Given the description of an element on the screen output the (x, y) to click on. 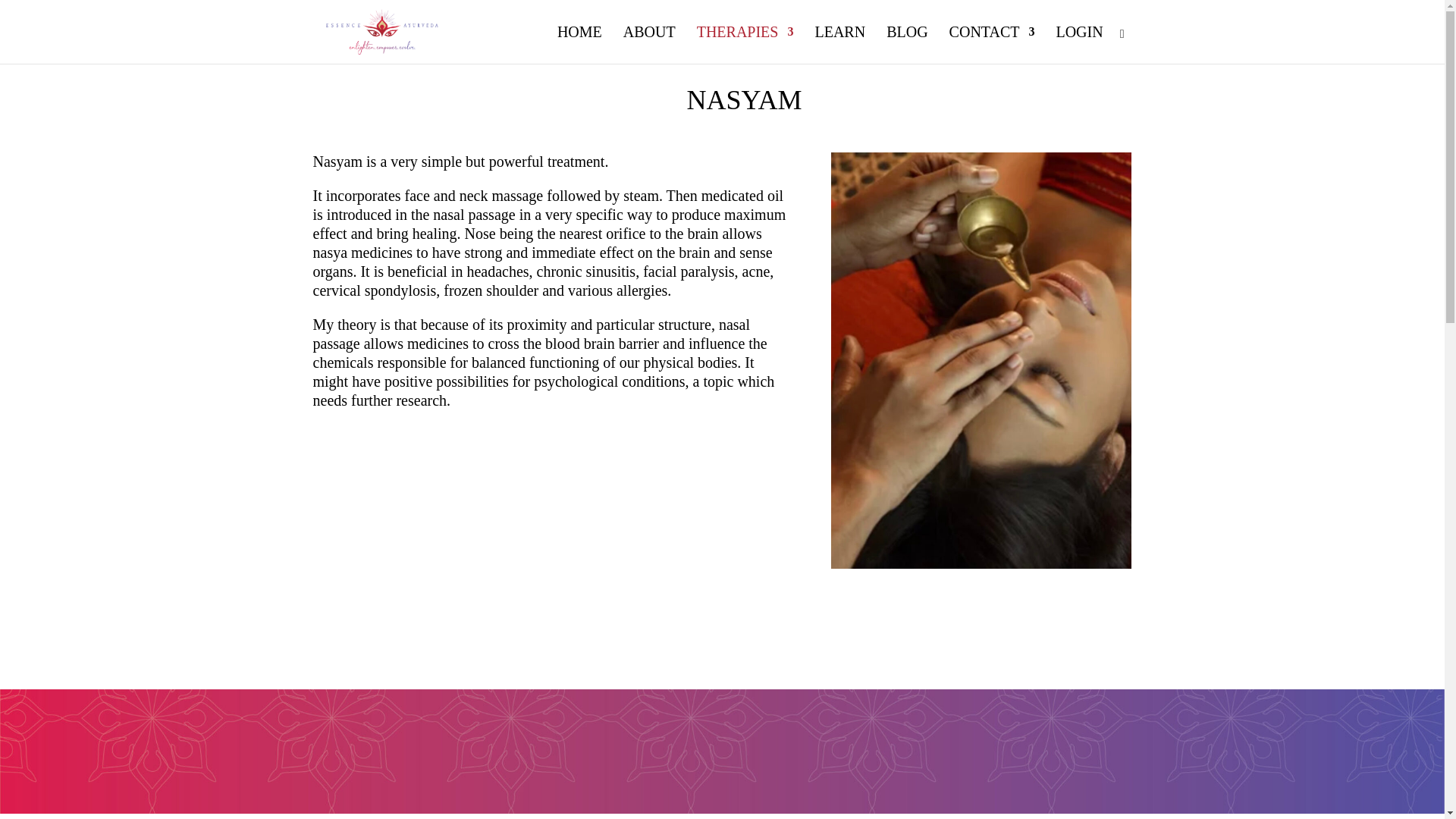
THERAPIES (745, 44)
BLOG (906, 44)
LOGIN (1078, 44)
LEARN (838, 44)
HOME (579, 44)
ABOUT (649, 44)
CONTACT (992, 44)
